Given the description of an element on the screen output the (x, y) to click on. 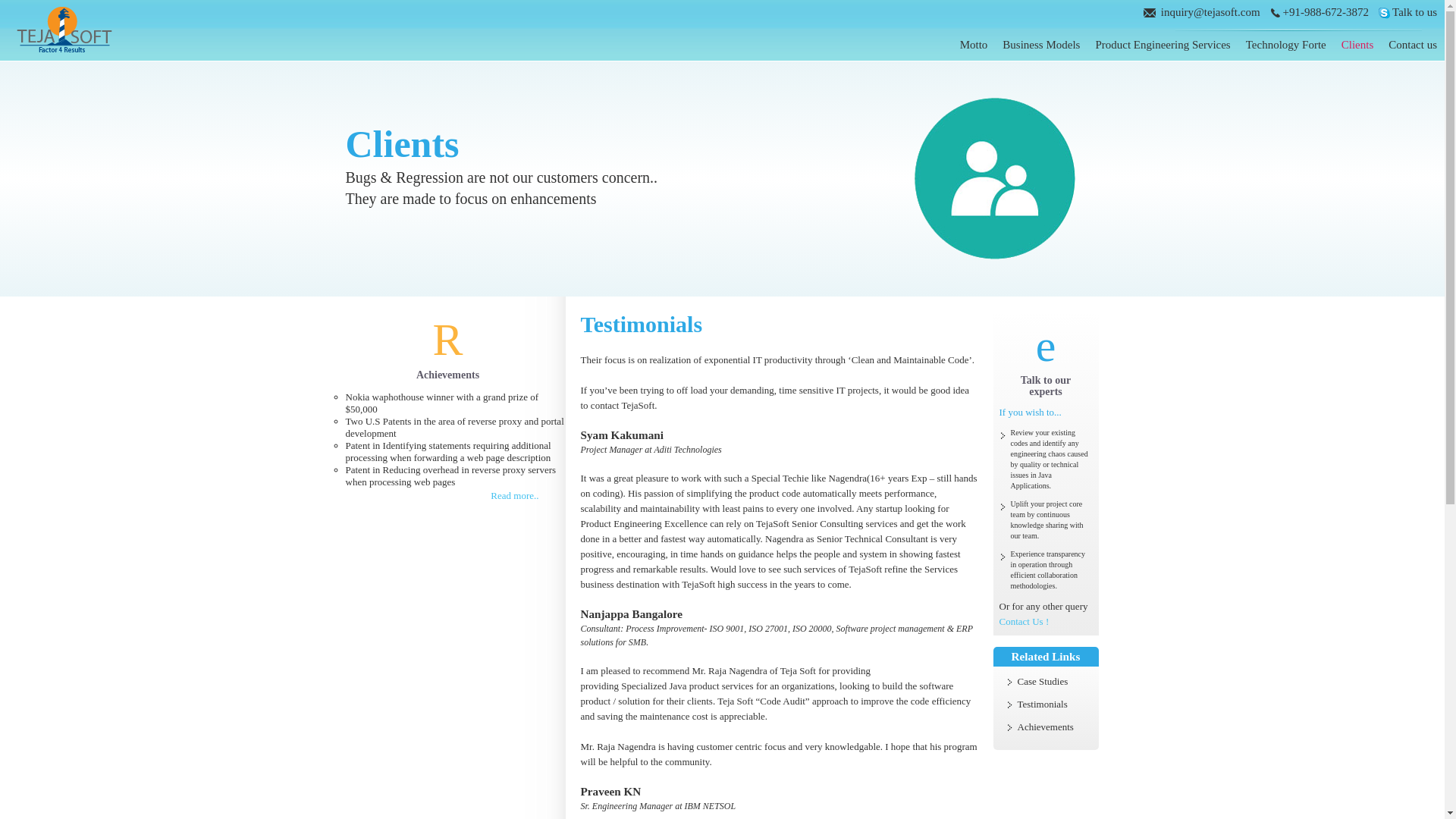
Product Engineering Services (1162, 44)
Clients (448, 368)
Talk to us (1357, 44)
Contact us (1414, 11)
Technology Forte (1413, 44)
Business Models (1286, 44)
Motto (1041, 44)
